Given the description of an element on the screen output the (x, y) to click on. 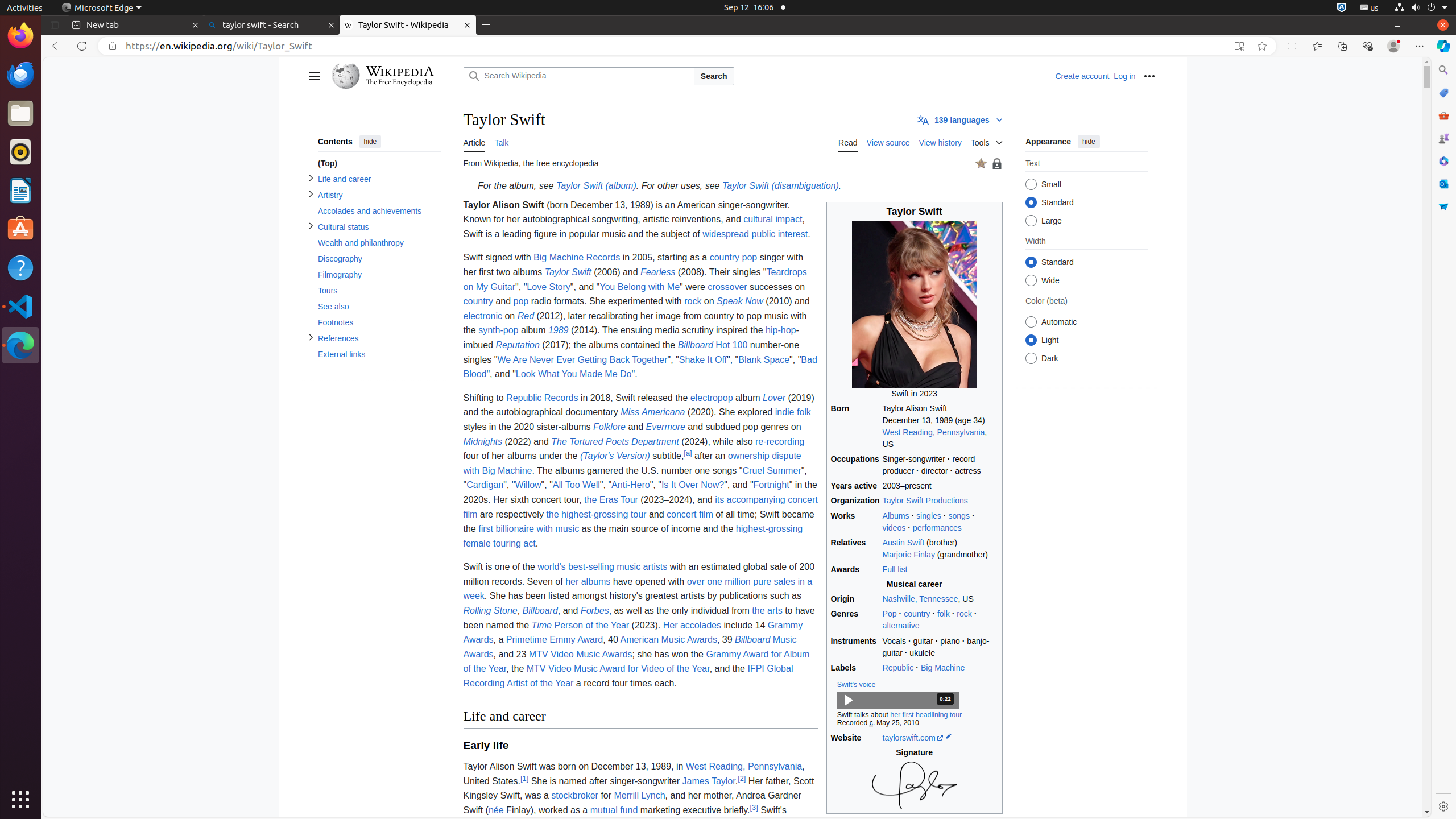
Go to an article in another language. Available in 139 languages Element type: push-button (959, 119)
Taylor Swift Element type: link (567, 271)
Games Element type: push-button (1443, 137)
Light Element type: radio-button (1030, 340)
world's best-selling music artists Element type: link (602, 566)
